Given the description of an element on the screen output the (x, y) to click on. 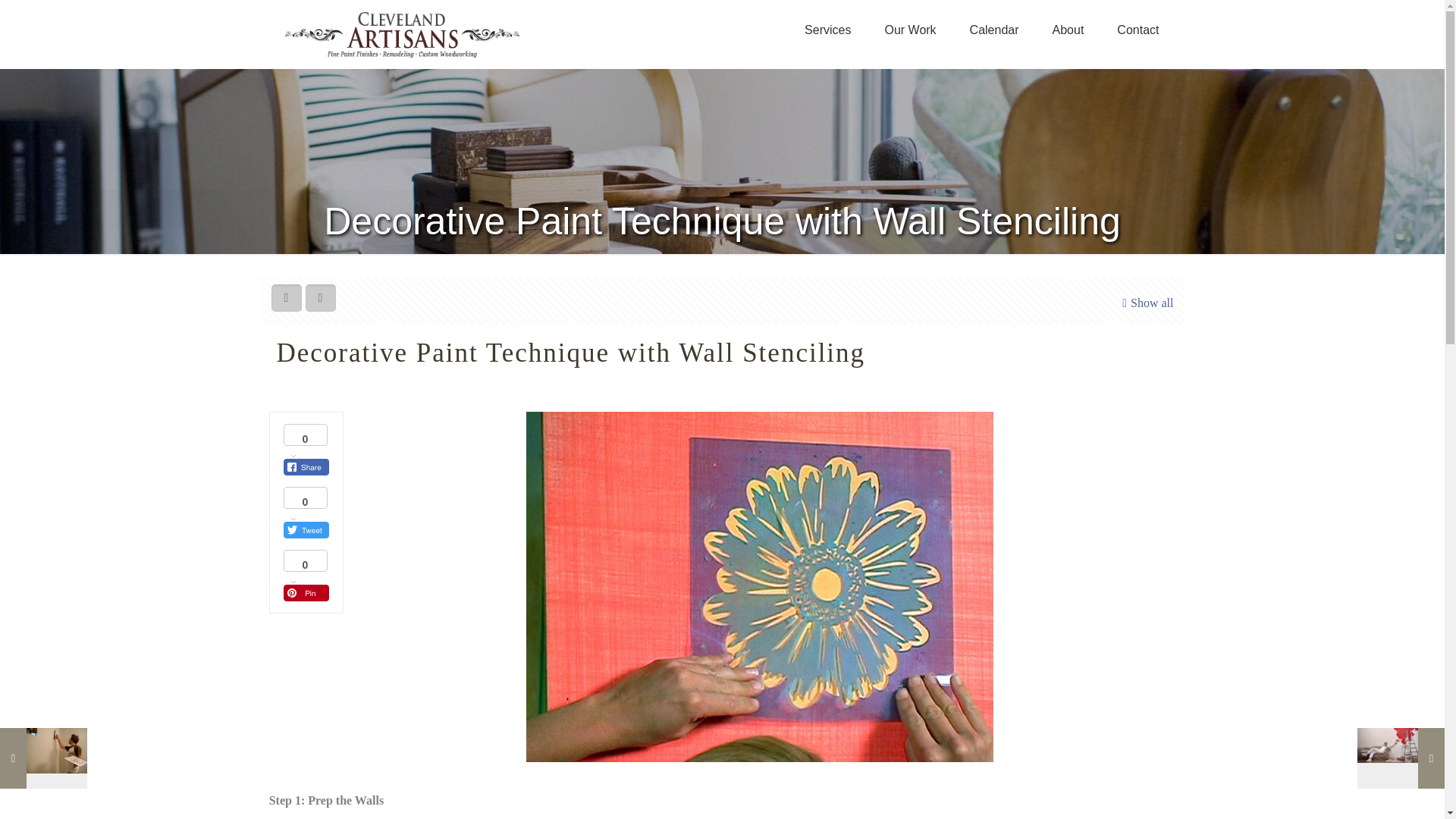
About (1067, 30)
Cleveland Artisans (401, 33)
Our Work (909, 30)
Services (827, 30)
Show all (1145, 302)
Contact (1137, 30)
Calendar (994, 30)
